Given the description of an element on the screen output the (x, y) to click on. 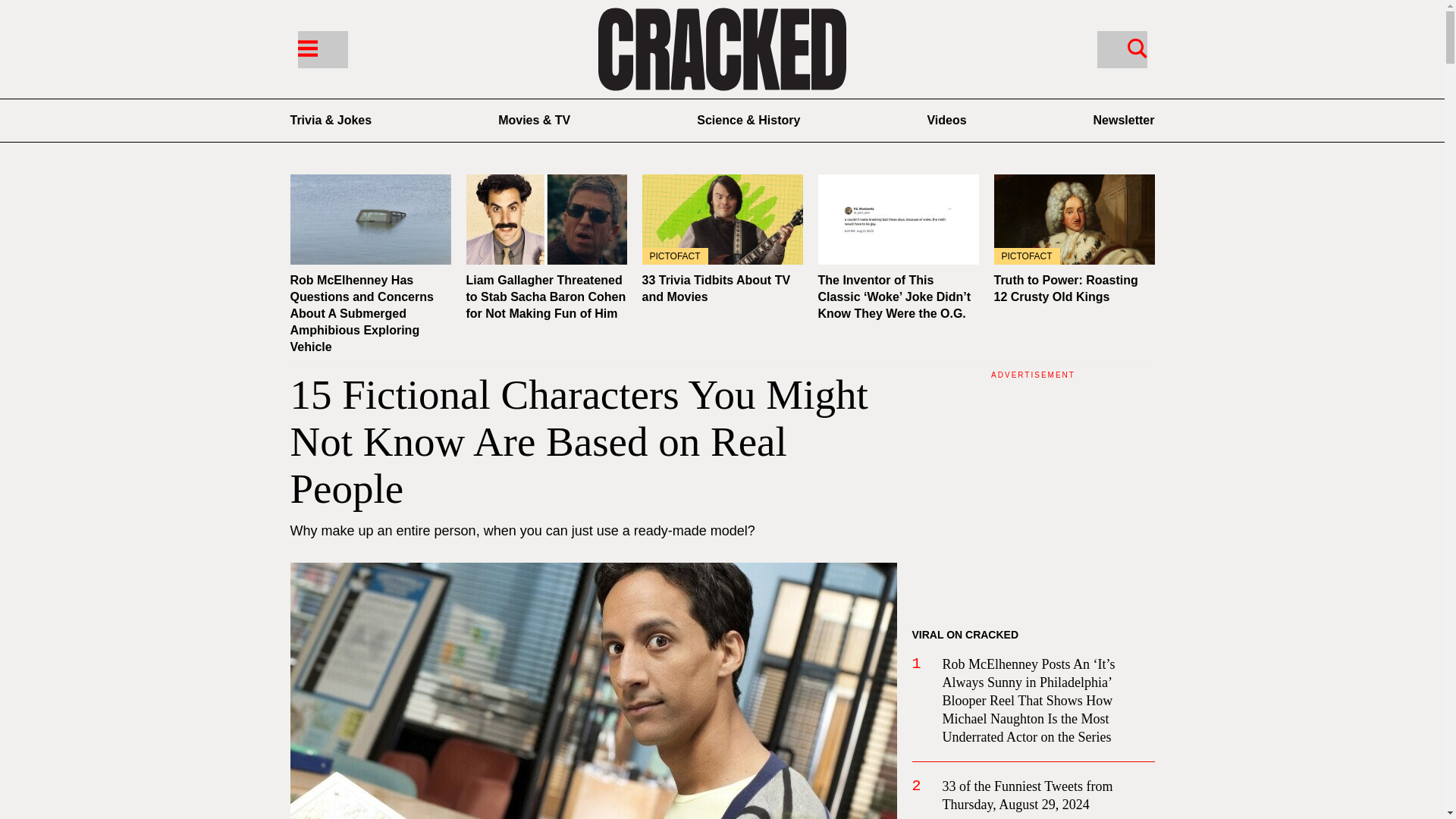
Menu (307, 47)
Cracked Newsletter (1123, 119)
Search (1136, 47)
Videos (946, 119)
Menu (322, 48)
Videos (946, 119)
